Given the description of an element on the screen output the (x, y) to click on. 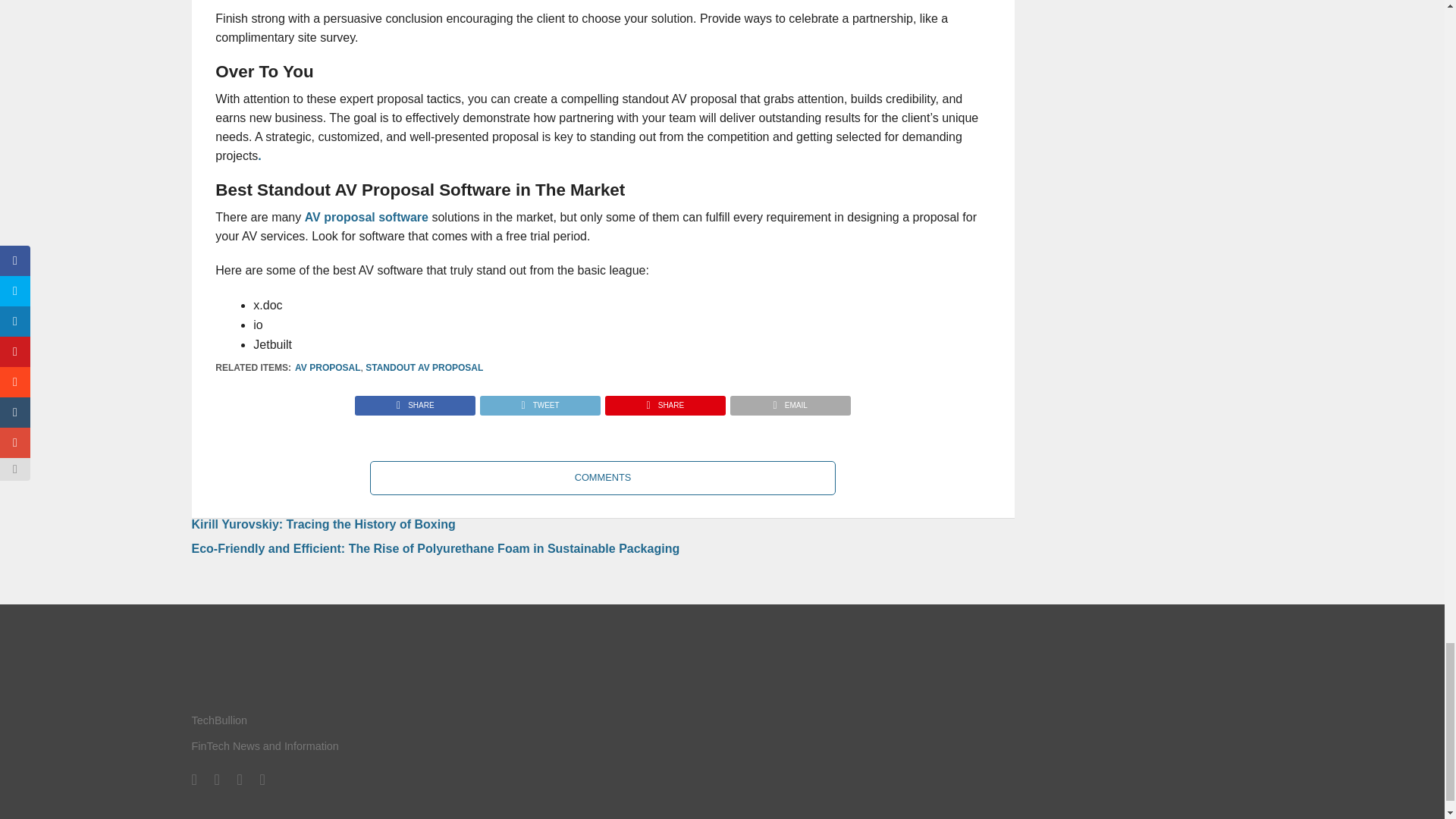
Pin This Post (664, 400)
Share on Facebook (415, 400)
Tweet This Post (539, 400)
